Given the description of an element on the screen output the (x, y) to click on. 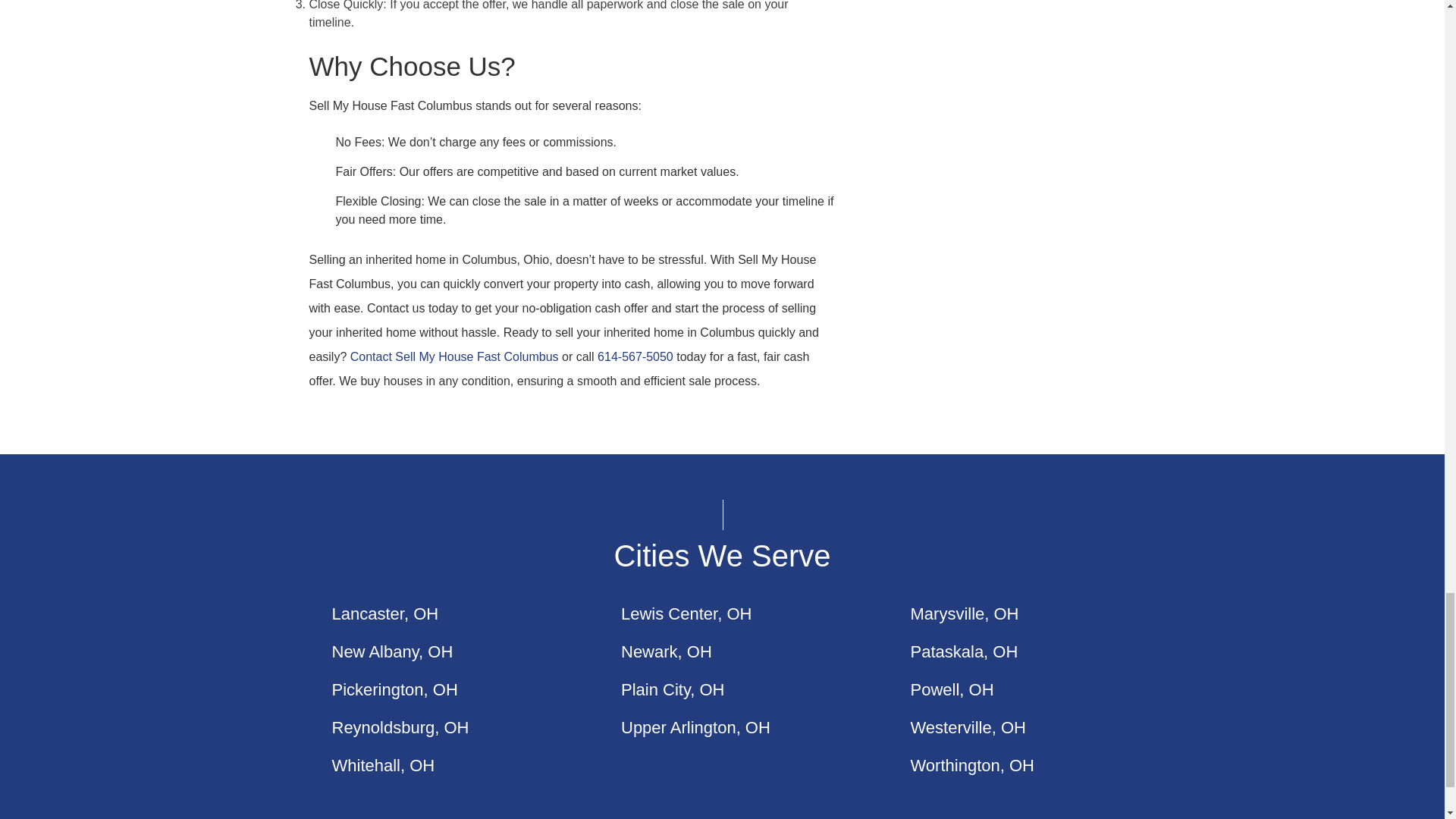
Pickerington, OH (394, 689)
Reynoldsburg, OH (399, 727)
Lancaster, OH (385, 612)
614-567-5050 (634, 356)
Plain City, OH (673, 689)
Contact Sell My House Fast Columbus (454, 356)
Marysville, OH (963, 612)
New Albany, OH (391, 651)
Pataskala, OH (963, 651)
Newark, OH (666, 651)
